Given the description of an element on the screen output the (x, y) to click on. 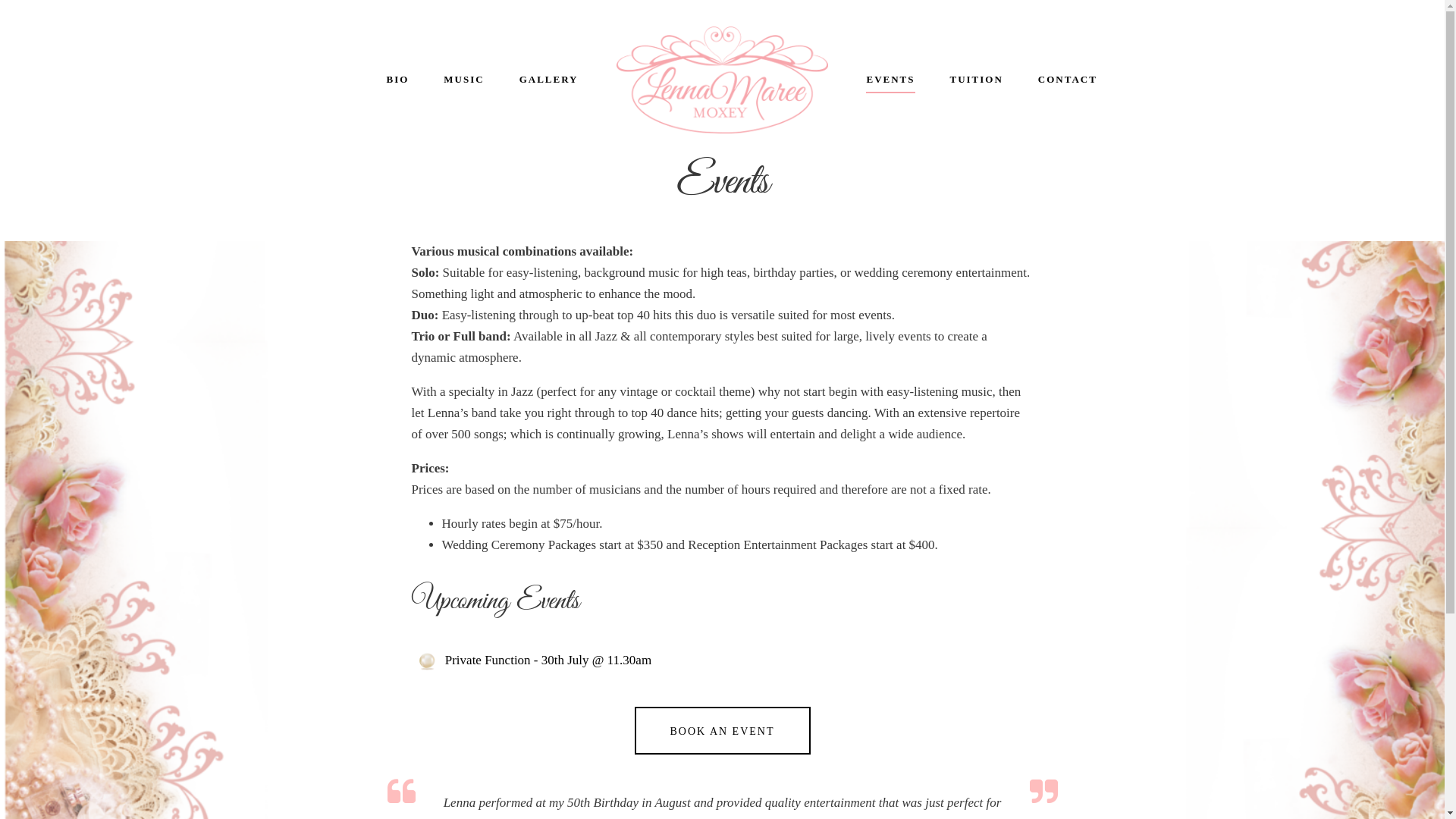
EVENTS Element type: text (890, 79)
MUSIC Element type: text (463, 79)
CONTACT Element type: text (1067, 79)
GALLERY Element type: text (548, 79)
BOOK AN EVENT Element type: text (721, 730)
TUITION Element type: text (975, 79)
BIO Element type: text (396, 79)
